Given the description of an element on the screen output the (x, y) to click on. 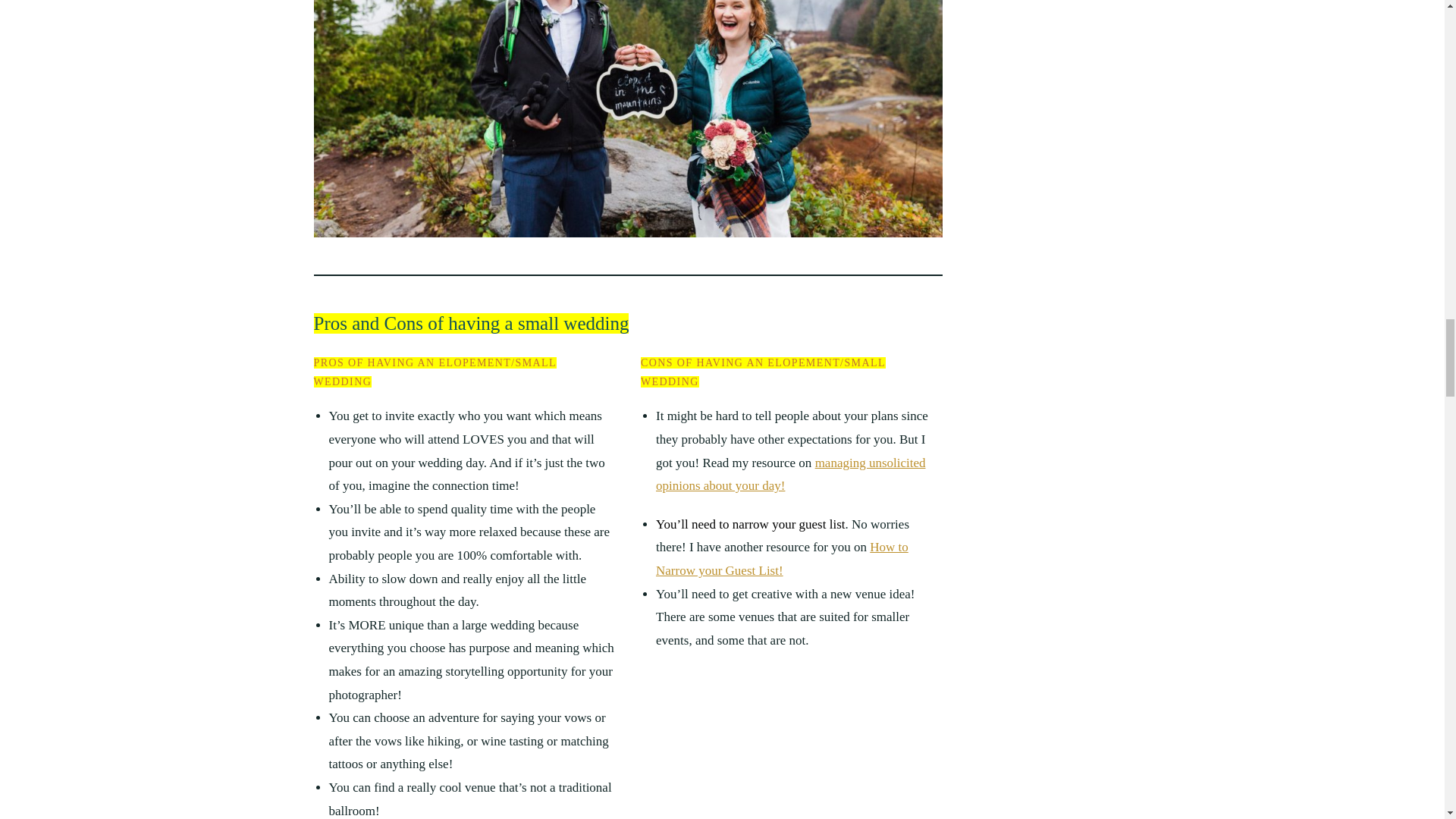
managing unsolicited opinions about your day! (791, 474)
How to Narrow your Guest List! (782, 558)
